Given the description of an element on the screen output the (x, y) to click on. 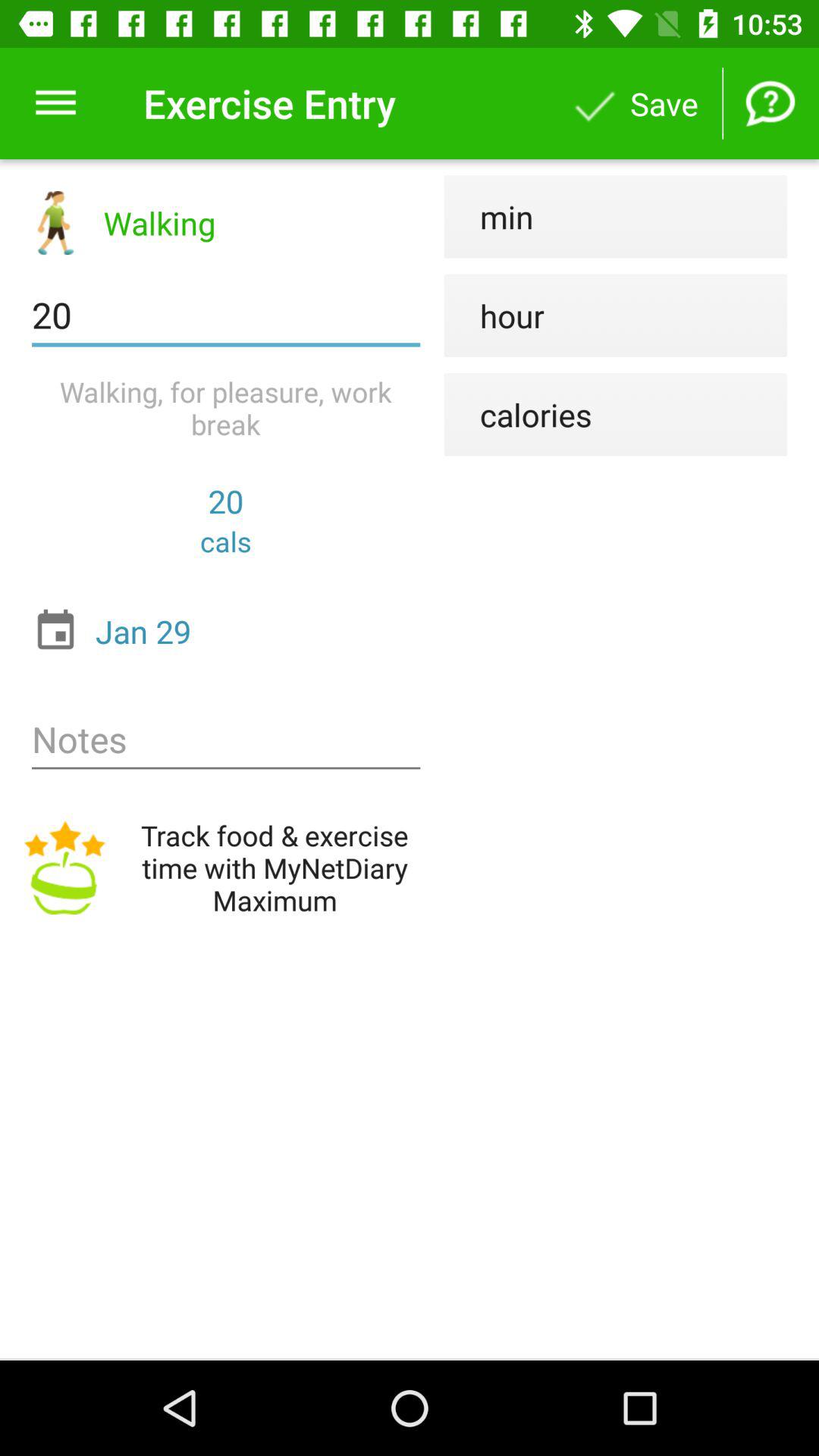
choose min icon (488, 216)
